Given the description of an element on the screen output the (x, y) to click on. 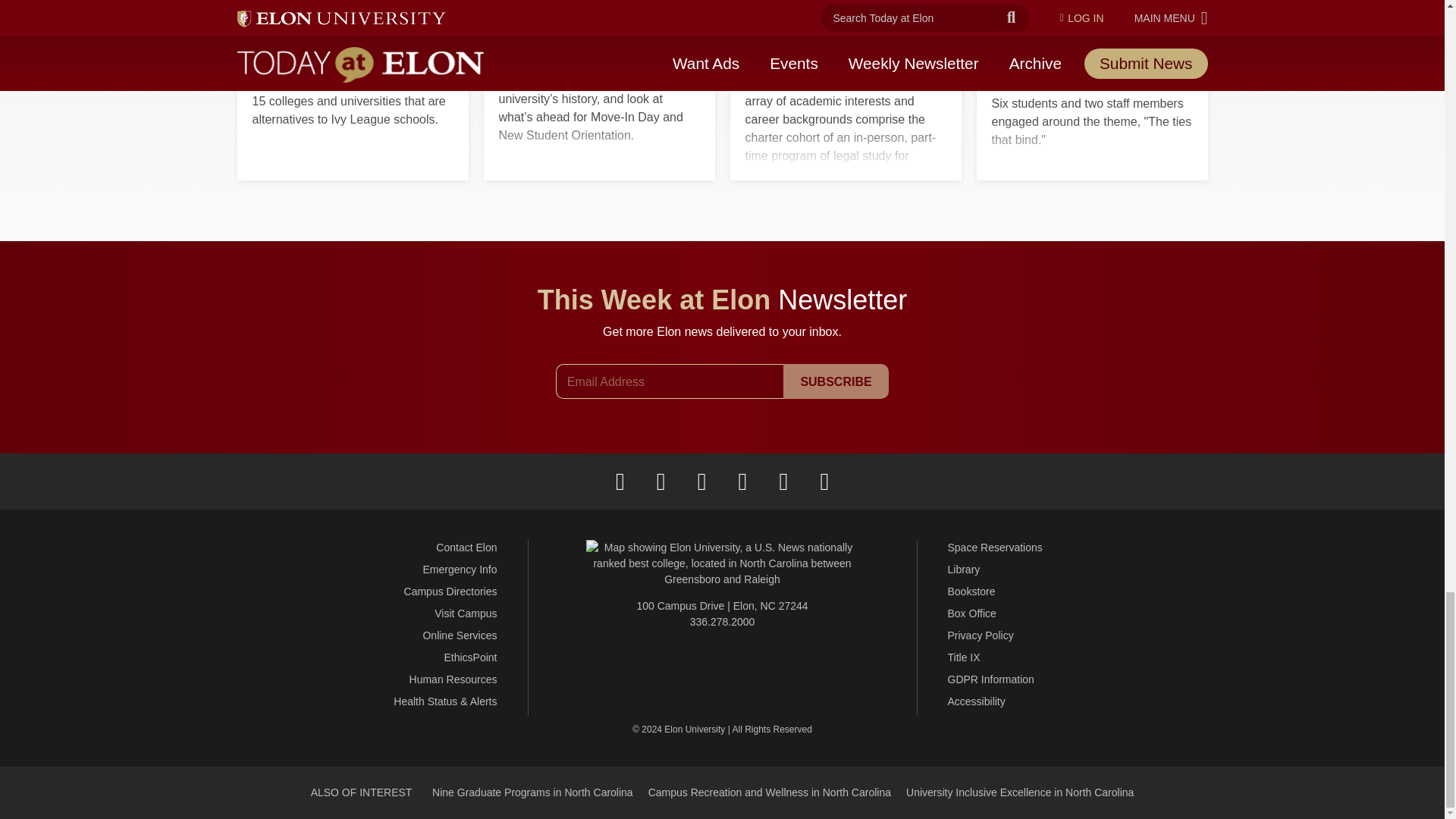
Facebook (620, 481)
Instagram (701, 481)
Full Social Media List (824, 481)
LinkedIn (742, 481)
YouTube (783, 481)
